Given the description of an element on the screen output the (x, y) to click on. 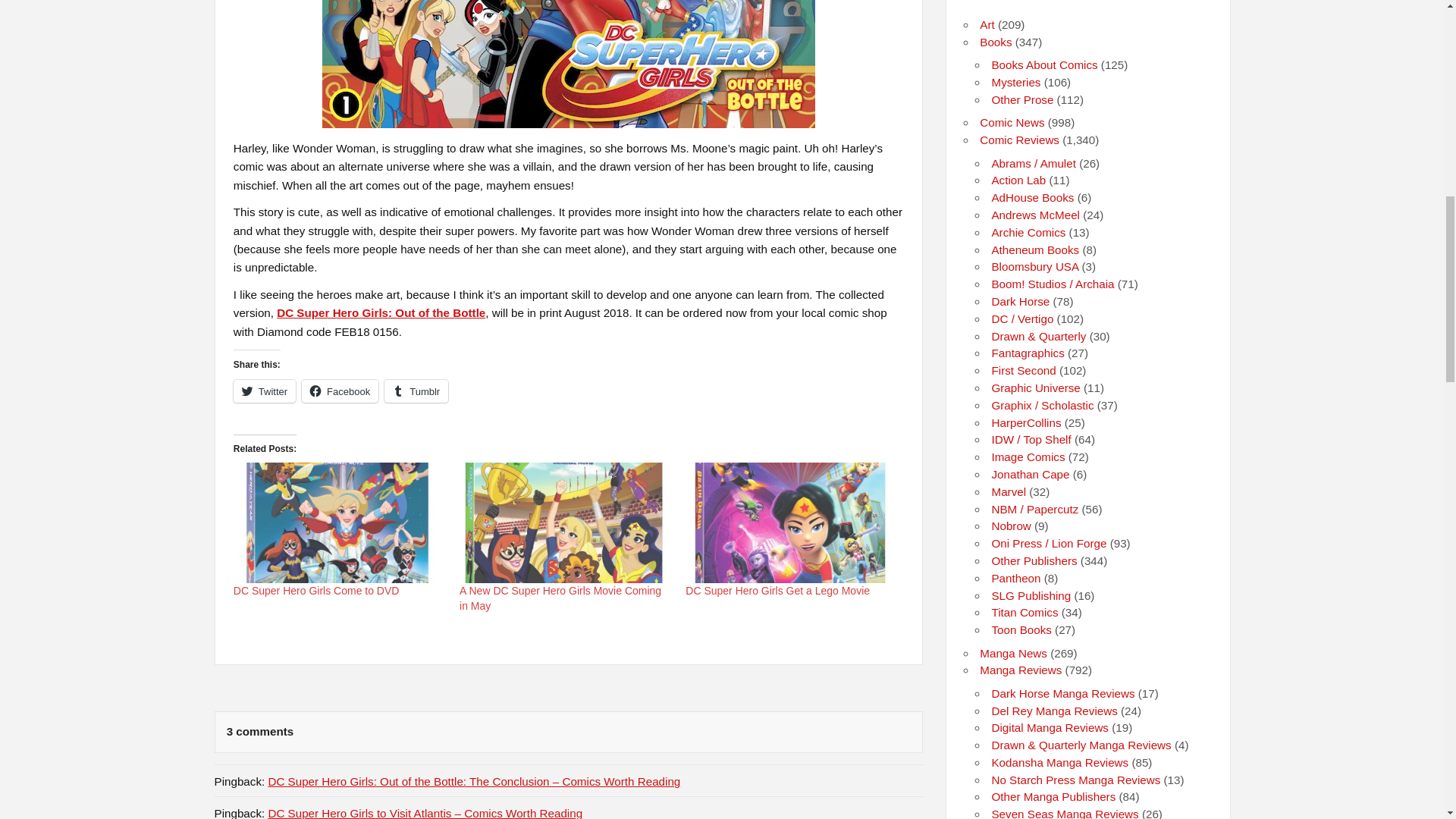
DC Super Hero Girls Come to DVD (315, 590)
A New DC Super Hero Girls Movie Coming in May (560, 597)
DC Super Hero Girls Come to DVD (338, 522)
DC Super Hero Girls Get a Lego Movie (790, 522)
Facebook (339, 391)
Twitter (263, 391)
A New DC Super Hero Girls Movie Coming in May (564, 522)
Click to share on Twitter (263, 391)
A New DC Super Hero Girls Movie Coming in May (560, 597)
DC Super Hero Girls Get a Lego Movie (777, 590)
